Given the description of an element on the screen output the (x, y) to click on. 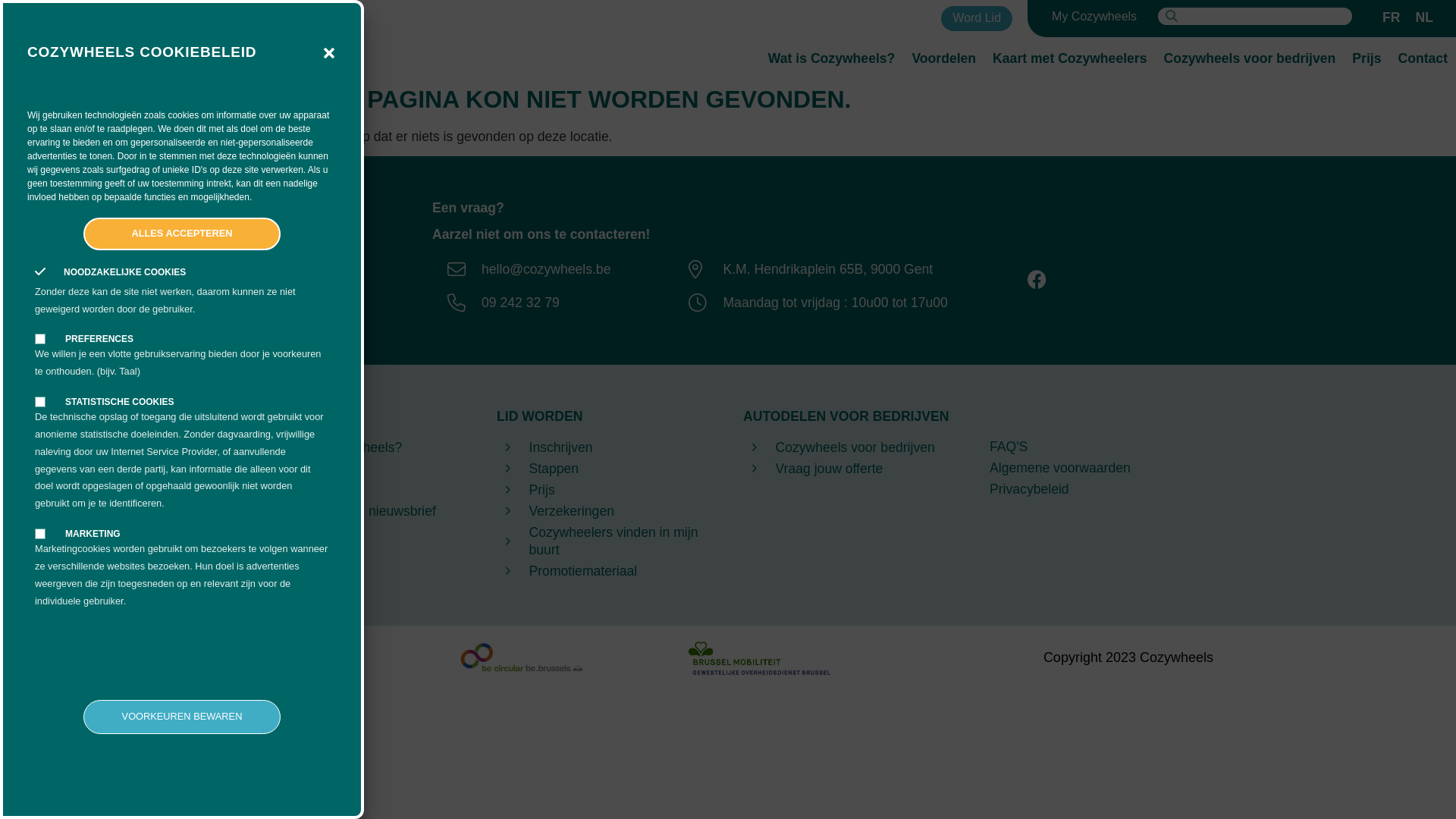
Voordelen Element type: text (943, 58)
Promotiemateriaal Element type: text (604, 571)
VOORKEUREN BEWAREN Element type: text (181, 716)
Vraag jouw offerte Element type: text (851, 468)
Stappen Element type: text (604, 468)
Cozywheels voor bedrijven Element type: text (1249, 58)
Kaart met Cozywheelers Element type: text (1069, 58)
Inschrijven op nieuwsbrief Element type: text (358, 511)
Prijs Element type: text (1366, 58)
Wat is Cozywheels? Element type: text (831, 58)
Privacybeleid Element type: text (1097, 489)
Contact Element type: text (358, 489)
My Cozywheels Element type: text (1093, 16)
FAQ'S Element type: text (1097, 446)
Cozywheels voor bedrijven Element type: text (851, 447)
Algemene voorwaarden Element type: text (1097, 467)
ALLES ACCEPTEREN Element type: text (181, 233)
hello@cozywheels.be Element type: text (524, 269)
09 242 32 79 Element type: text (524, 302)
Verzekeringen Element type: text (604, 511)
Cozywheelers vinden in mijn buurt Element type: text (604, 541)
Word Lid Element type: text (976, 18)
Prijs Element type: text (604, 489)
Inschrijven Element type: text (604, 447)
Voordelen Element type: text (358, 468)
Wat is Cozywheels? Element type: text (358, 447)
